Given the description of an element on the screen output the (x, y) to click on. 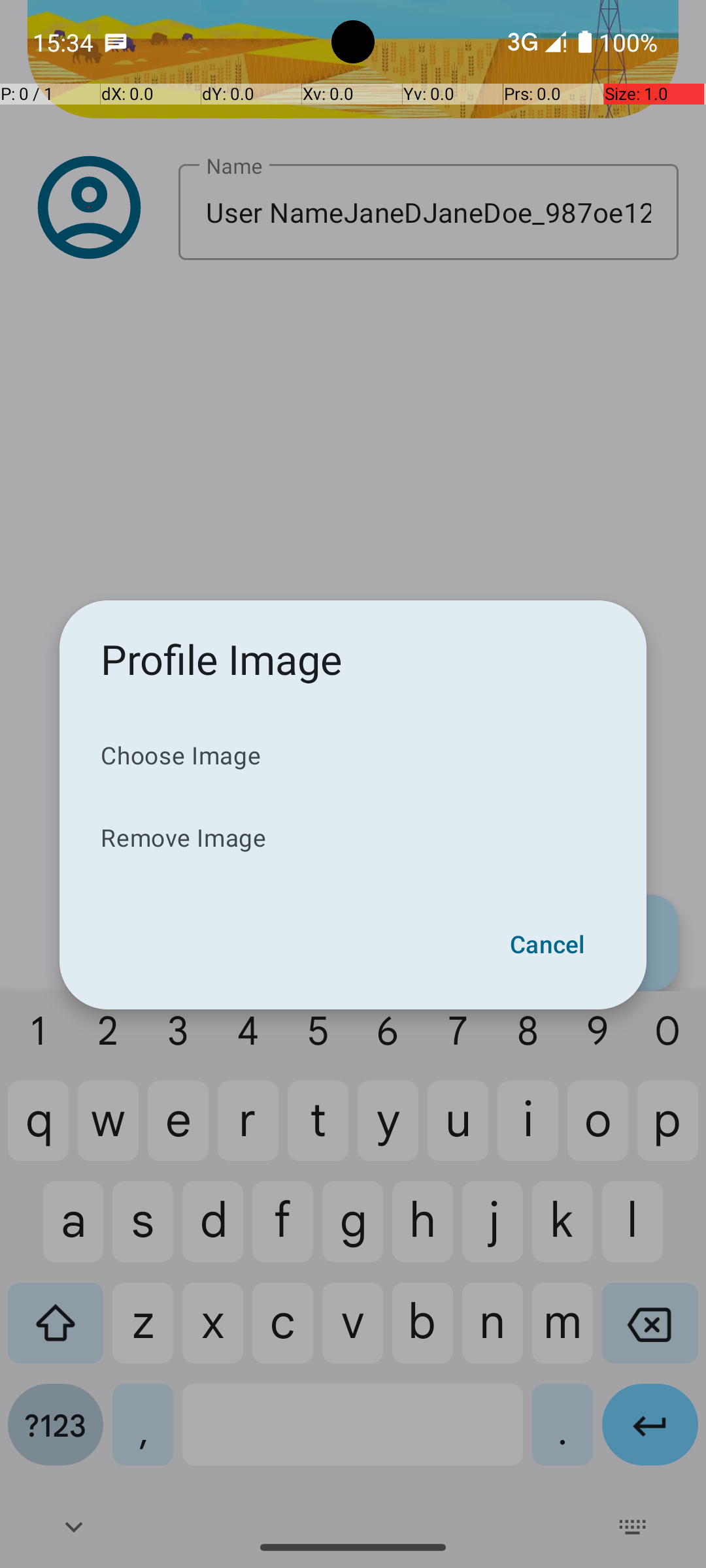
Profile Image Element type: android.widget.TextView (221, 658)
Choose Image Element type: android.widget.TextView (352, 755)
Remove Image Element type: android.widget.TextView (352, 837)
